Given the description of an element on the screen output the (x, y) to click on. 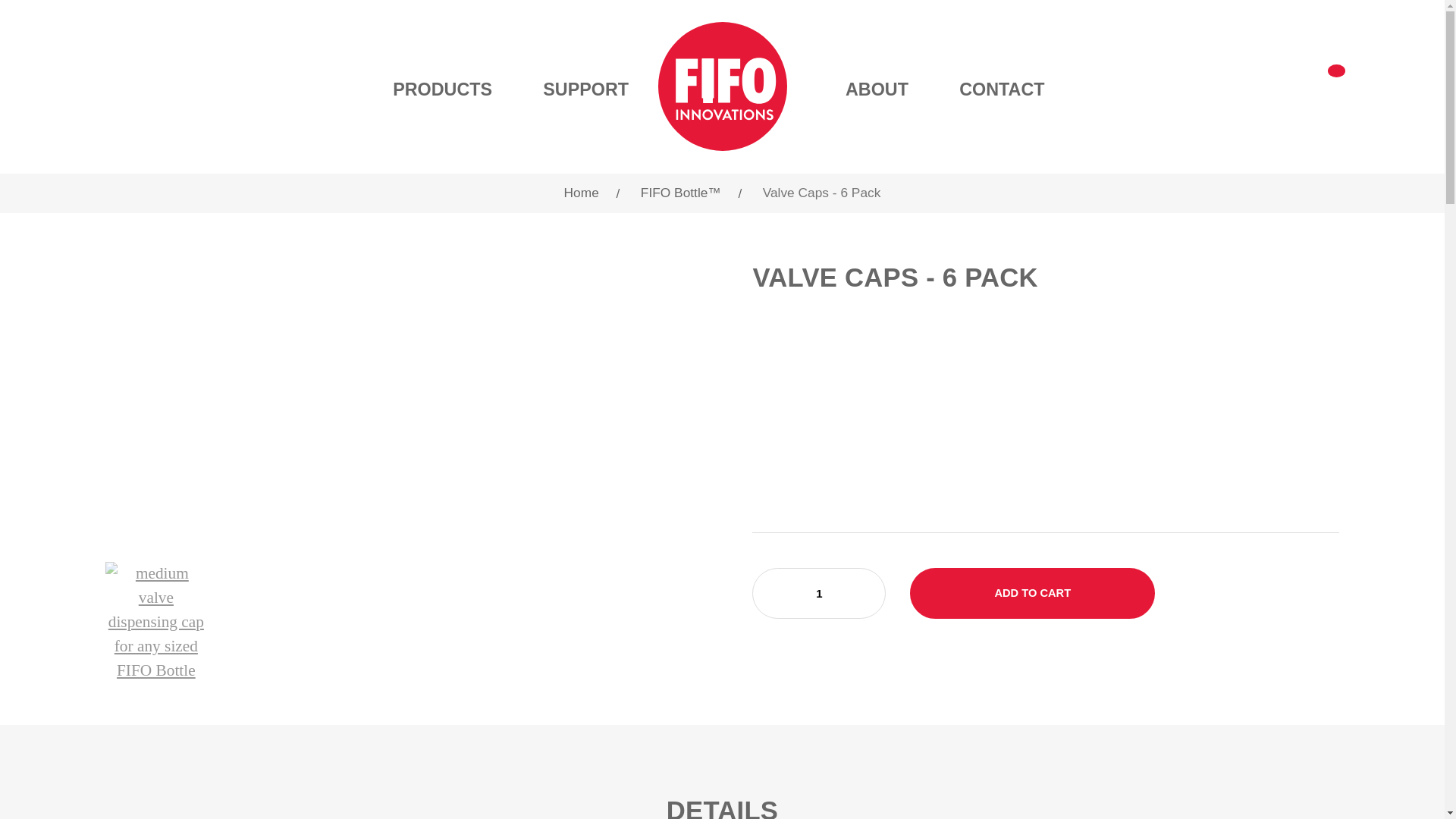
CONTACT (1001, 89)
Add to Cart (1032, 593)
Add to Cart (1032, 593)
Home (581, 192)
Increase Quantity: (850, 594)
SUPPORT (585, 89)
Decrease Quantity: (787, 594)
1 (818, 593)
PRODUCTS (442, 126)
ABOUT (876, 89)
